Given the description of an element on the screen output the (x, y) to click on. 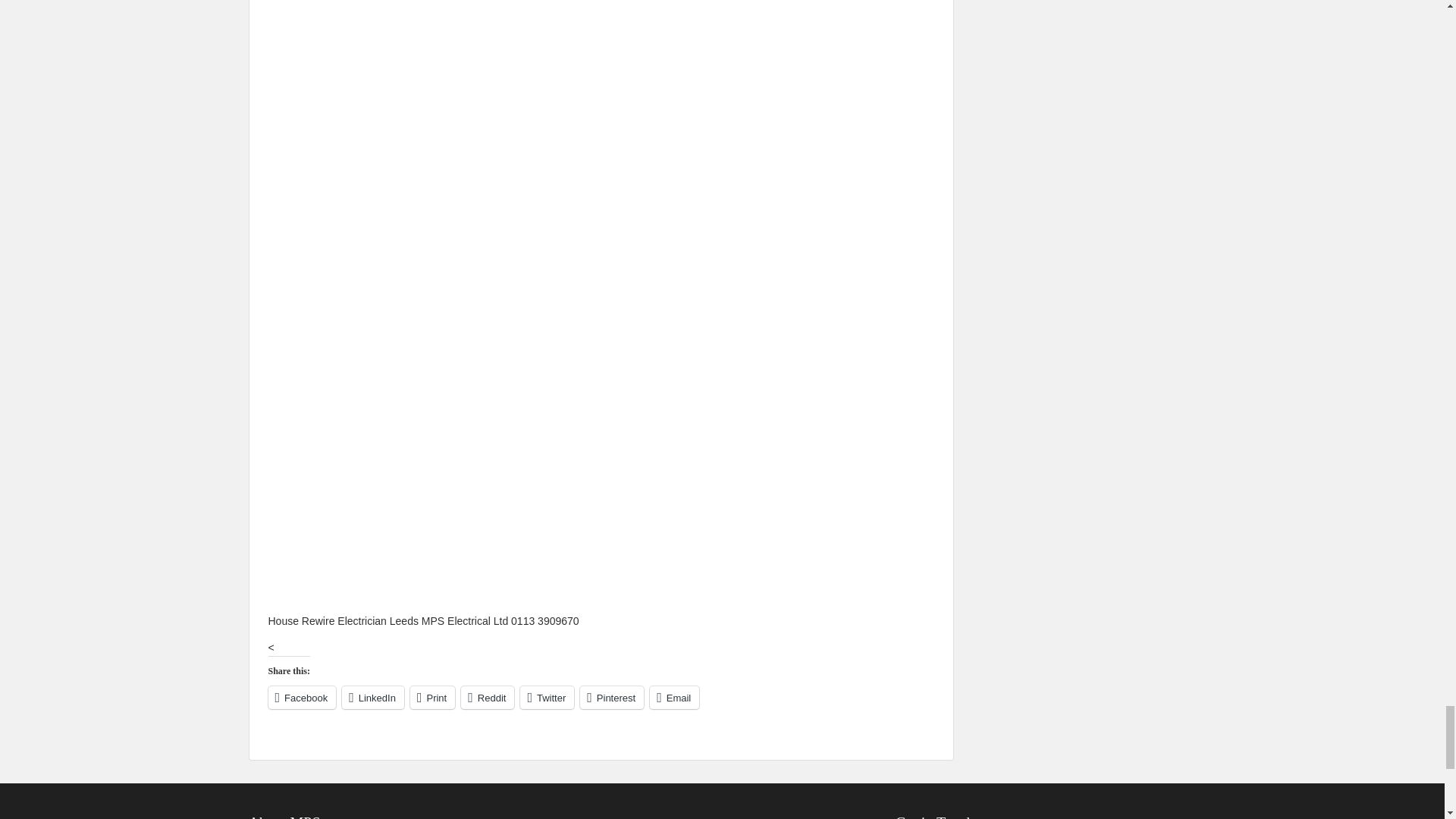
Click to email a link to a friend (673, 696)
Click to print (432, 696)
Click to share on Facebook (301, 696)
Click to share on Twitter (546, 696)
Click to share on Pinterest (611, 696)
Click to share on LinkedIn (373, 696)
Click to share on Reddit (487, 696)
Facebook (301, 696)
